Given the description of an element on the screen output the (x, y) to click on. 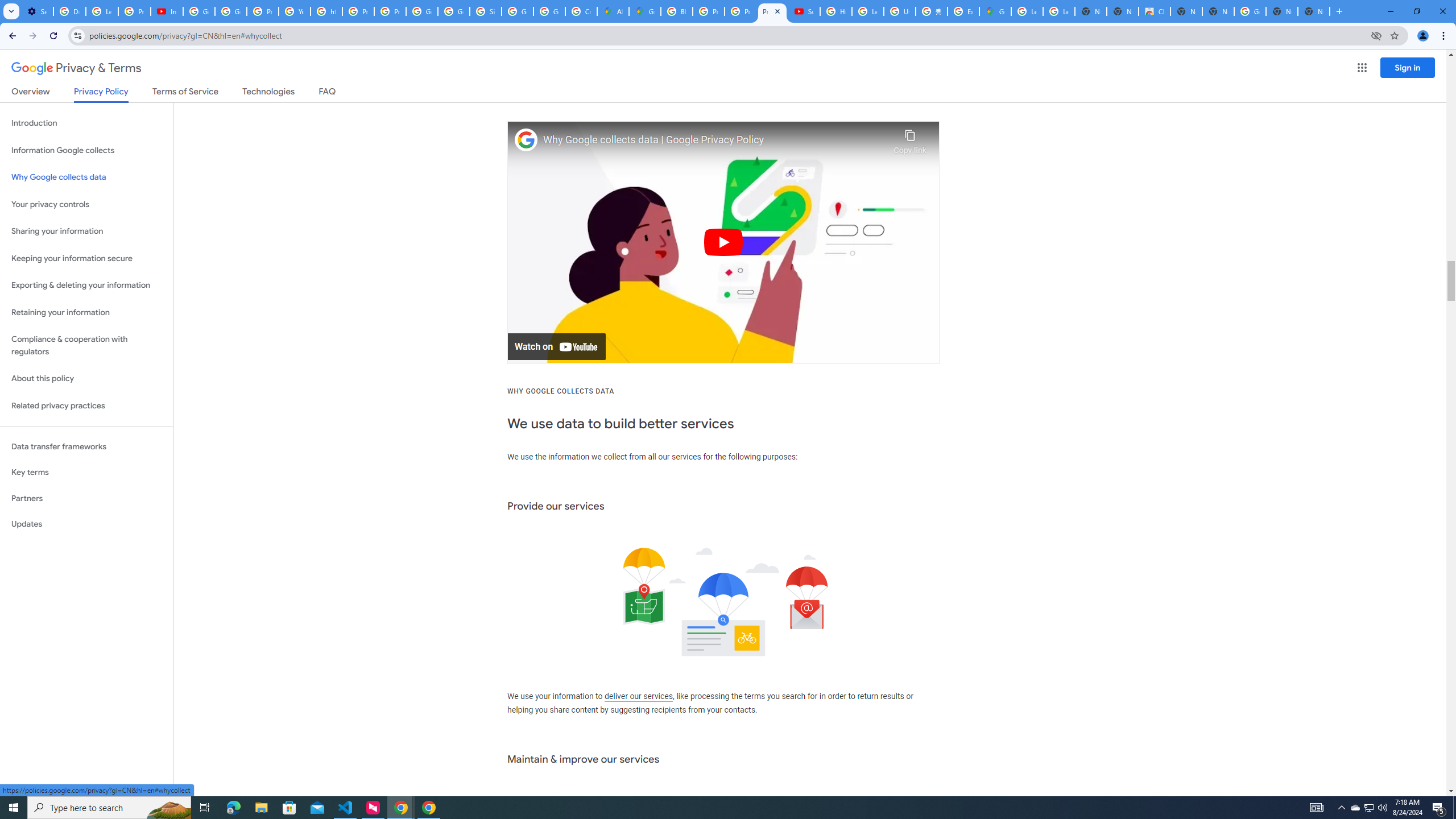
Blogger Policies and Guidelines - Transparency Center (676, 11)
Retaining your information (86, 312)
Information Google collects (86, 150)
Why Google collects data | Google Privacy Policy (715, 140)
New Tab (1313, 11)
Google Maps (995, 11)
